Given the description of an element on the screen output the (x, y) to click on. 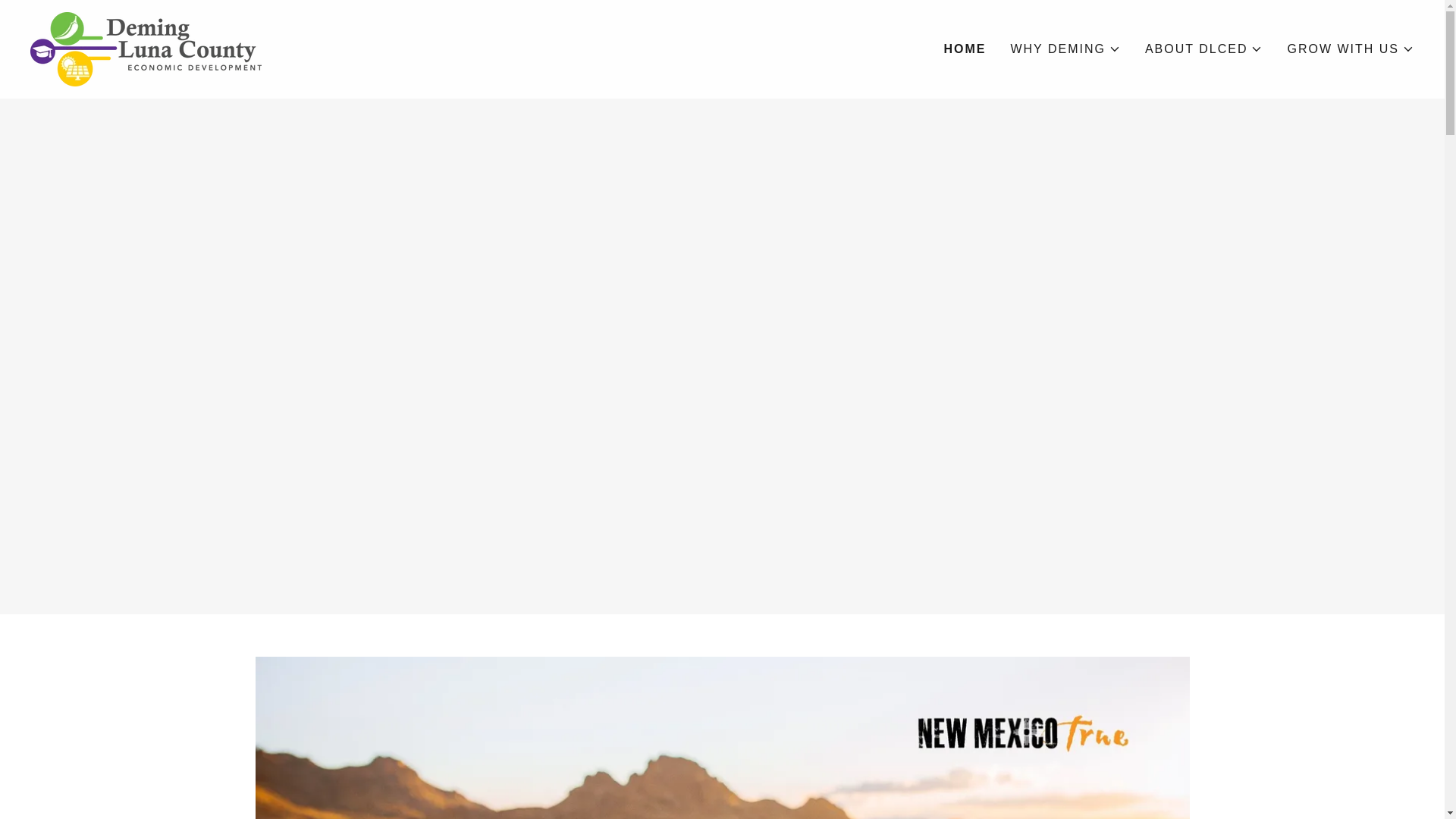
HOME (964, 49)
GROW WITH US (1350, 49)
WHY DEMING (1064, 49)
ABOUT DLCED (1203, 49)
Deming Luna County Economic Development, Inc. (146, 48)
